Given the description of an element on the screen output the (x, y) to click on. 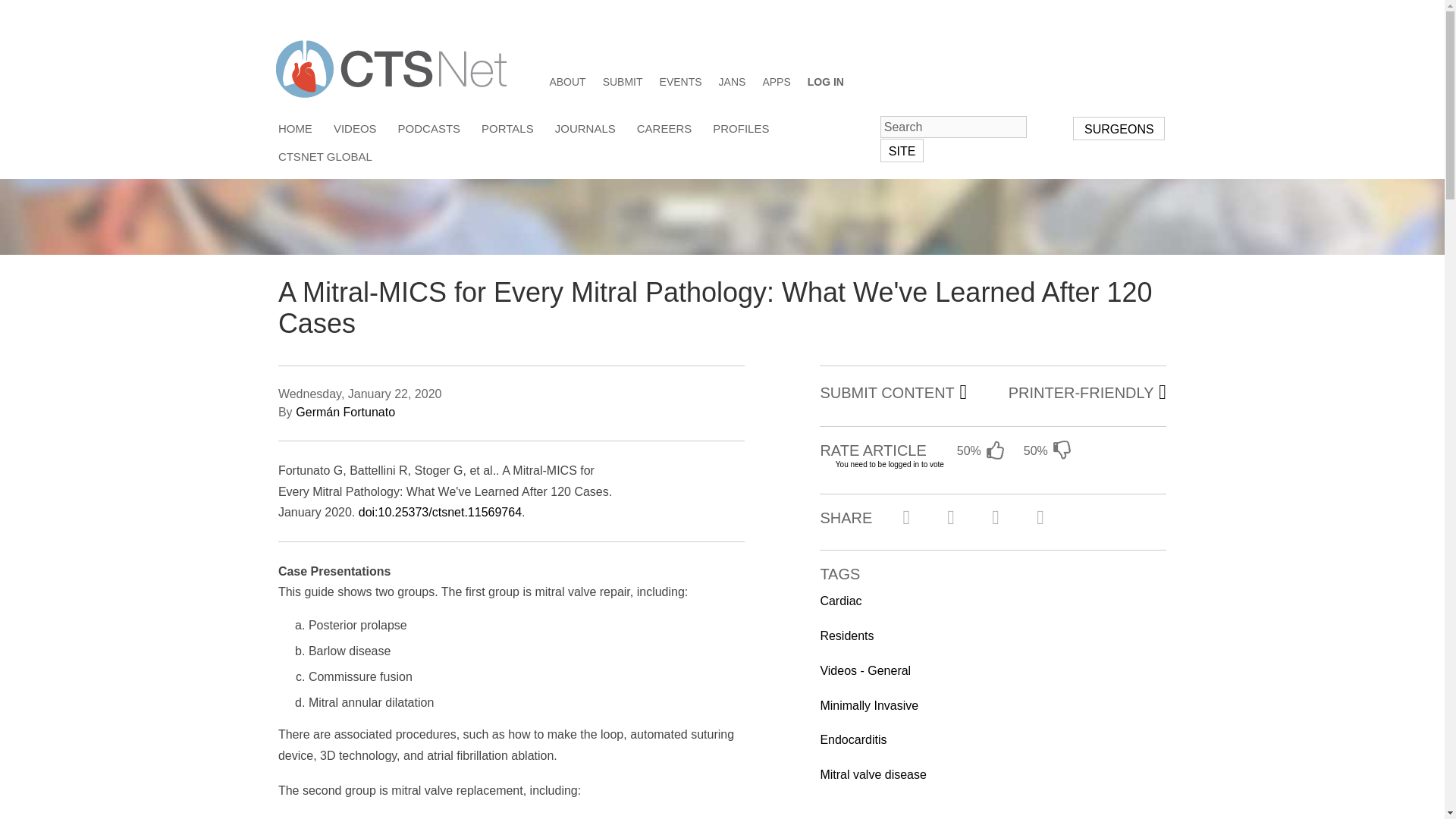
LOG IN (826, 83)
EVENTS (680, 83)
PODCASTS (429, 127)
JANS (732, 83)
Site (902, 150)
PORTALS (507, 127)
VIDEOS (355, 127)
ABOUT (566, 83)
Home (391, 67)
